Given the description of an element on the screen output the (x, y) to click on. 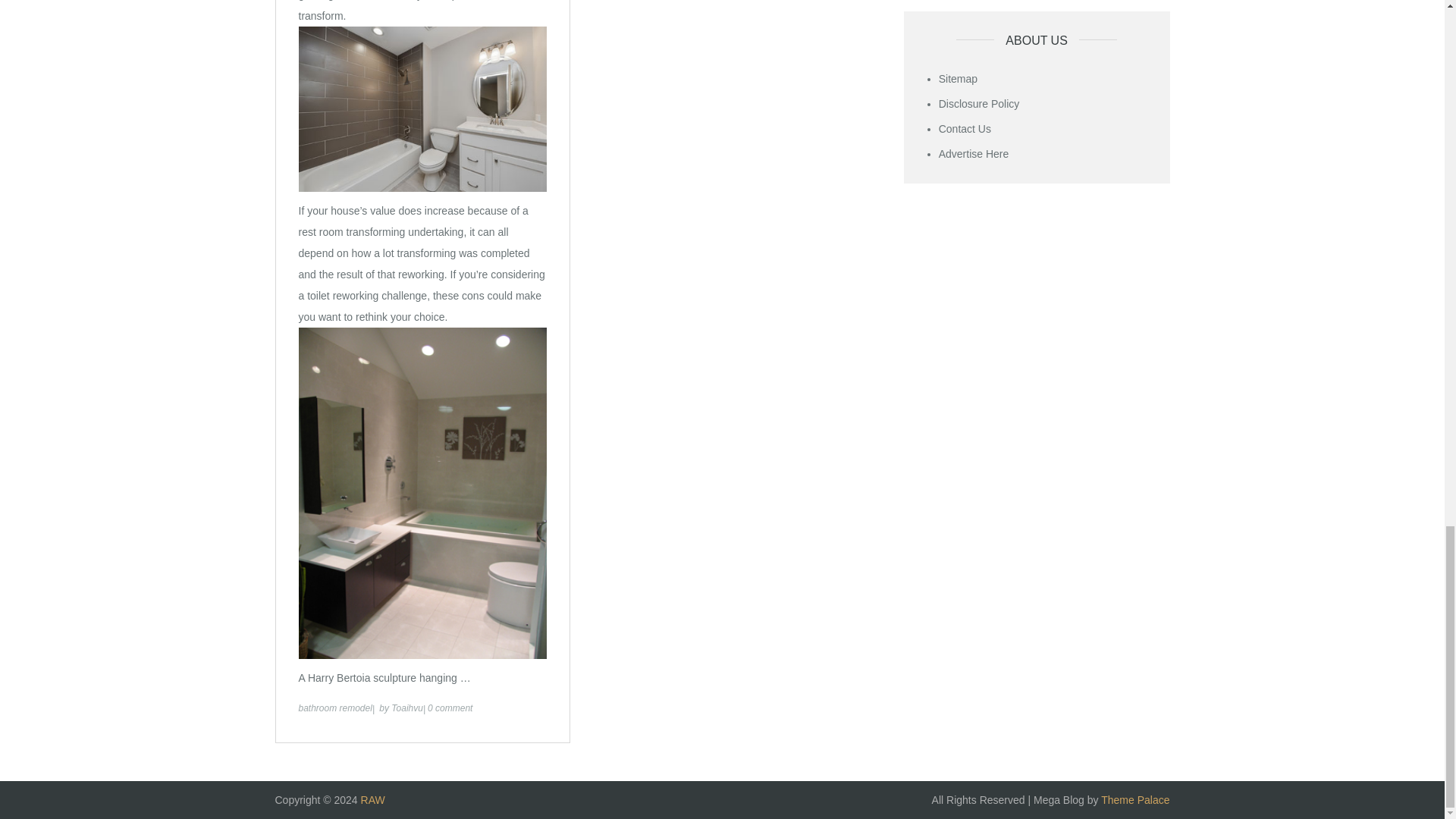
bathroom remodel (335, 707)
Toaihvu (407, 707)
0 comment (449, 707)
